Given the description of an element on the screen output the (x, y) to click on. 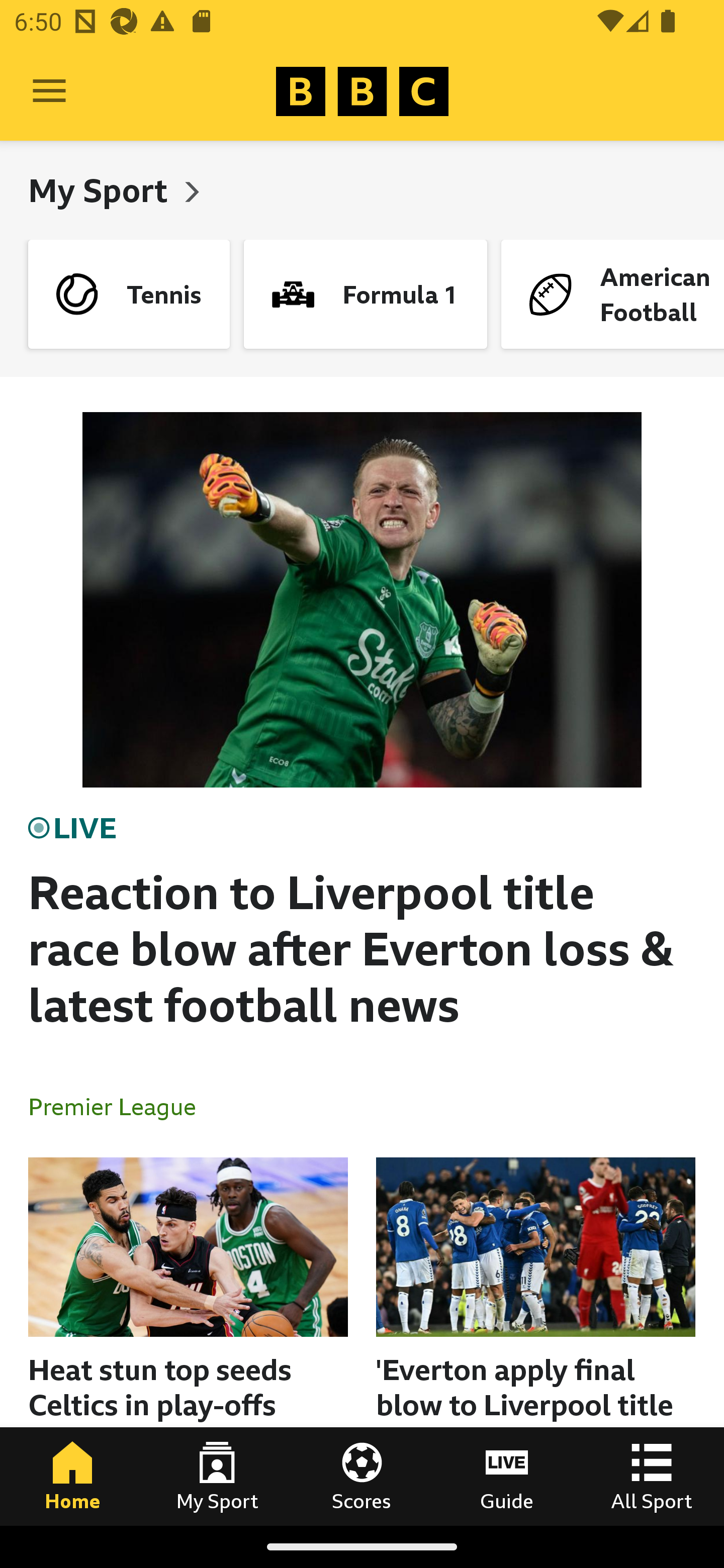
Open Menu (49, 91)
My Sport (101, 190)
Premier League In the section Premier League (119, 1106)
My Sport (216, 1475)
Scores (361, 1475)
Guide (506, 1475)
All Sport (651, 1475)
